Given the description of an element on the screen output the (x, y) to click on. 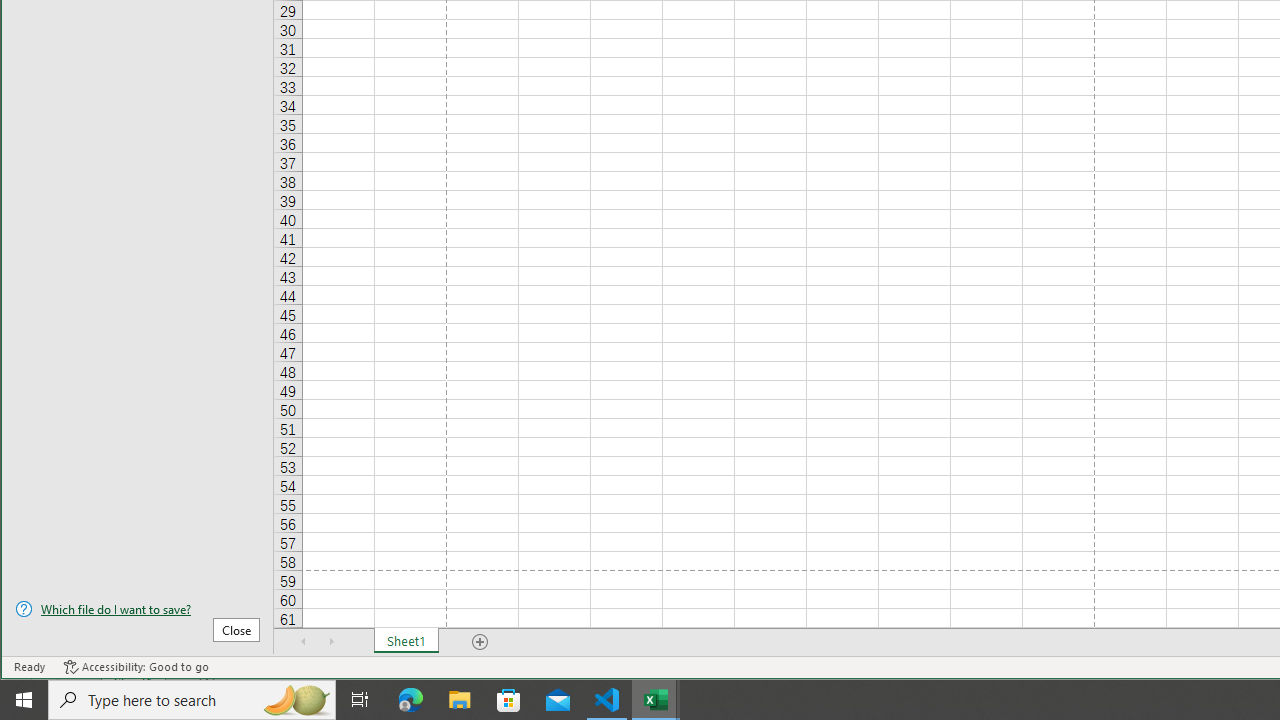
Task View (359, 699)
Which file do I want to save? (137, 609)
